Given the description of an element on the screen output the (x, y) to click on. 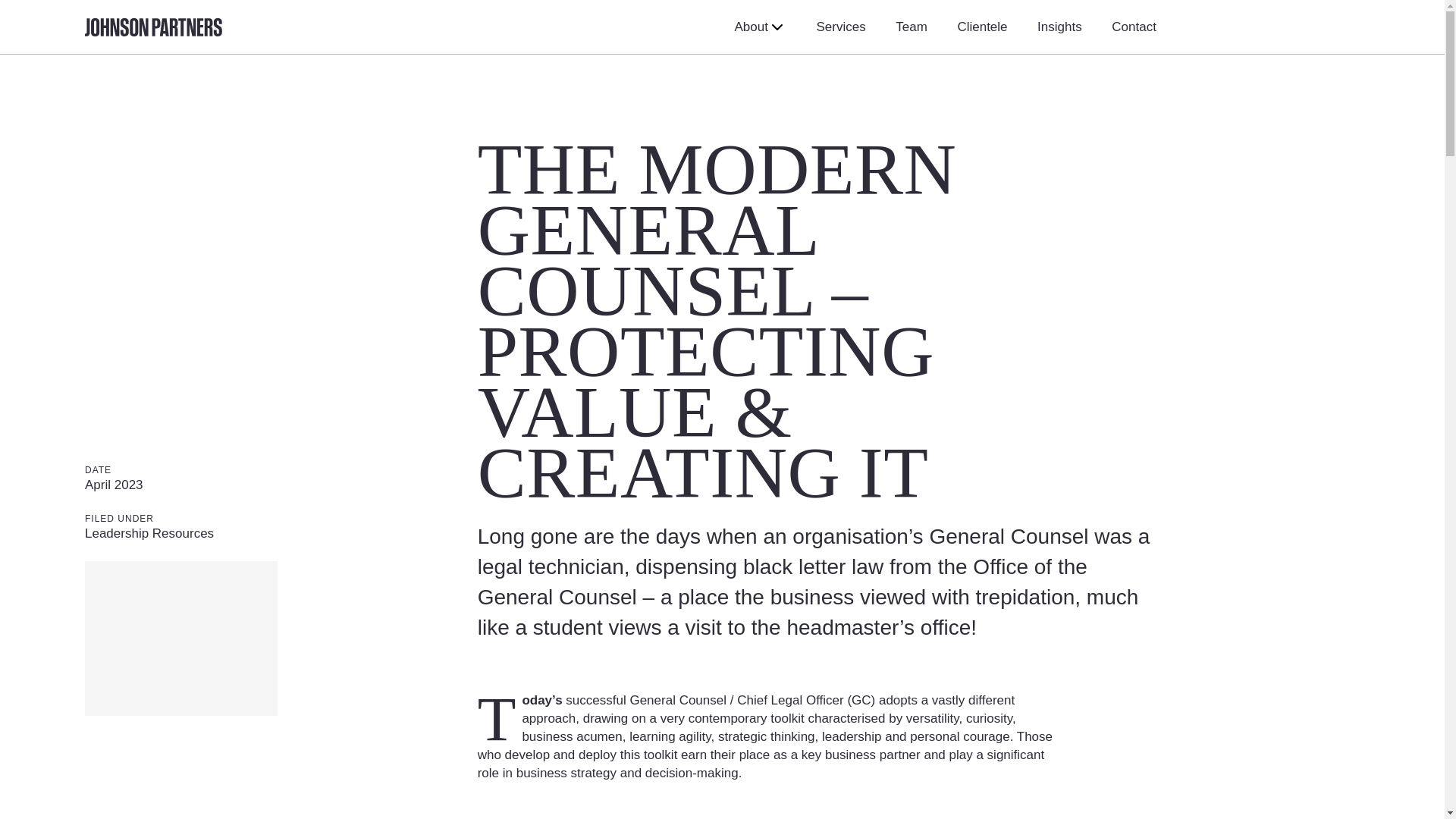
Website Credits (791, 792)
Insights (1058, 27)
About (759, 27)
Services (839, 27)
Subscribe (809, 474)
Clientele (981, 27)
Team (911, 27)
Leadership Resources (149, 533)
Contact (1134, 27)
